Given the description of an element on the screen output the (x, y) to click on. 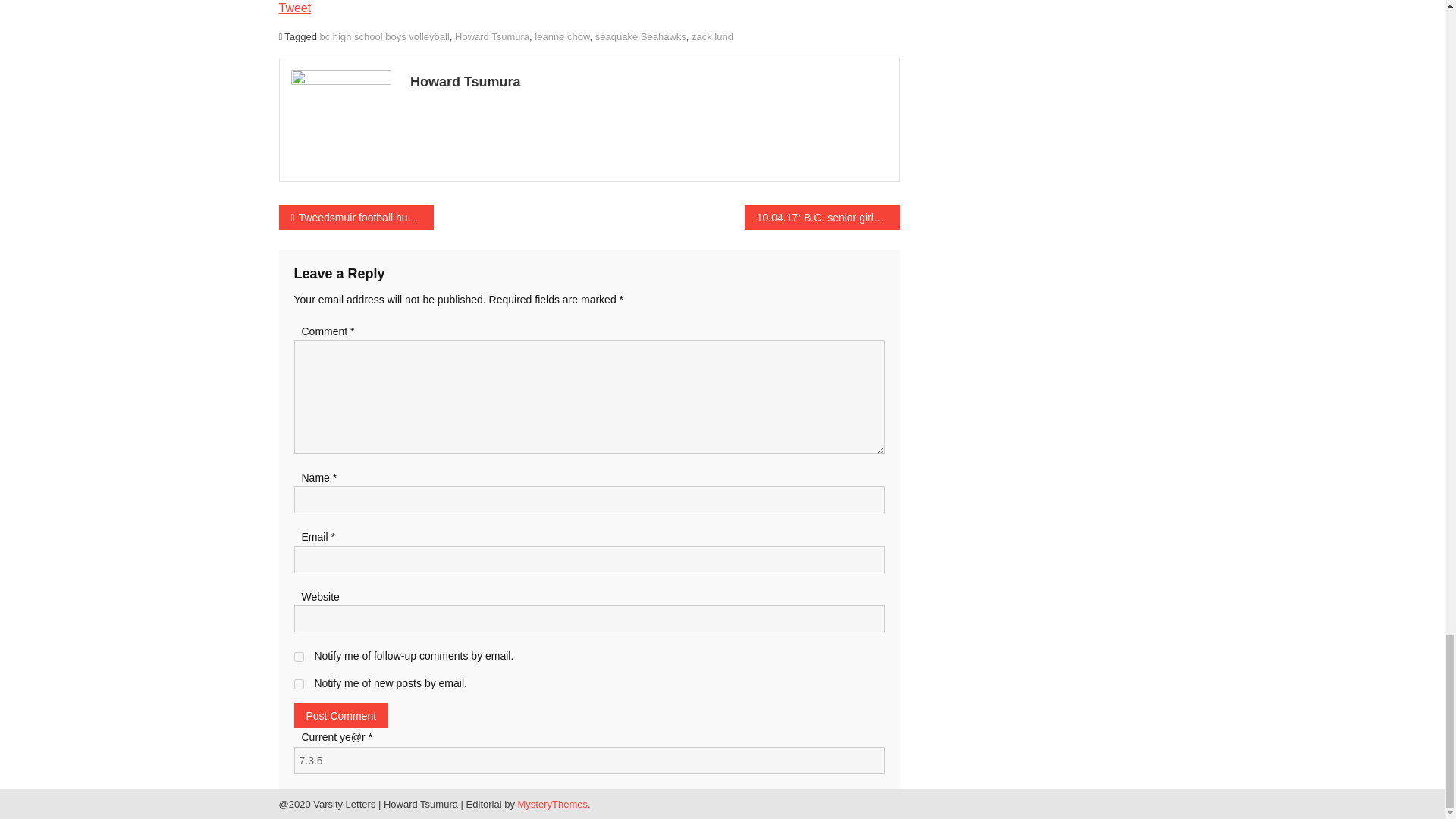
Post Comment (341, 715)
subscribe (299, 684)
7.3.5 (589, 759)
subscribe (299, 656)
